Given the description of an element on the screen output the (x, y) to click on. 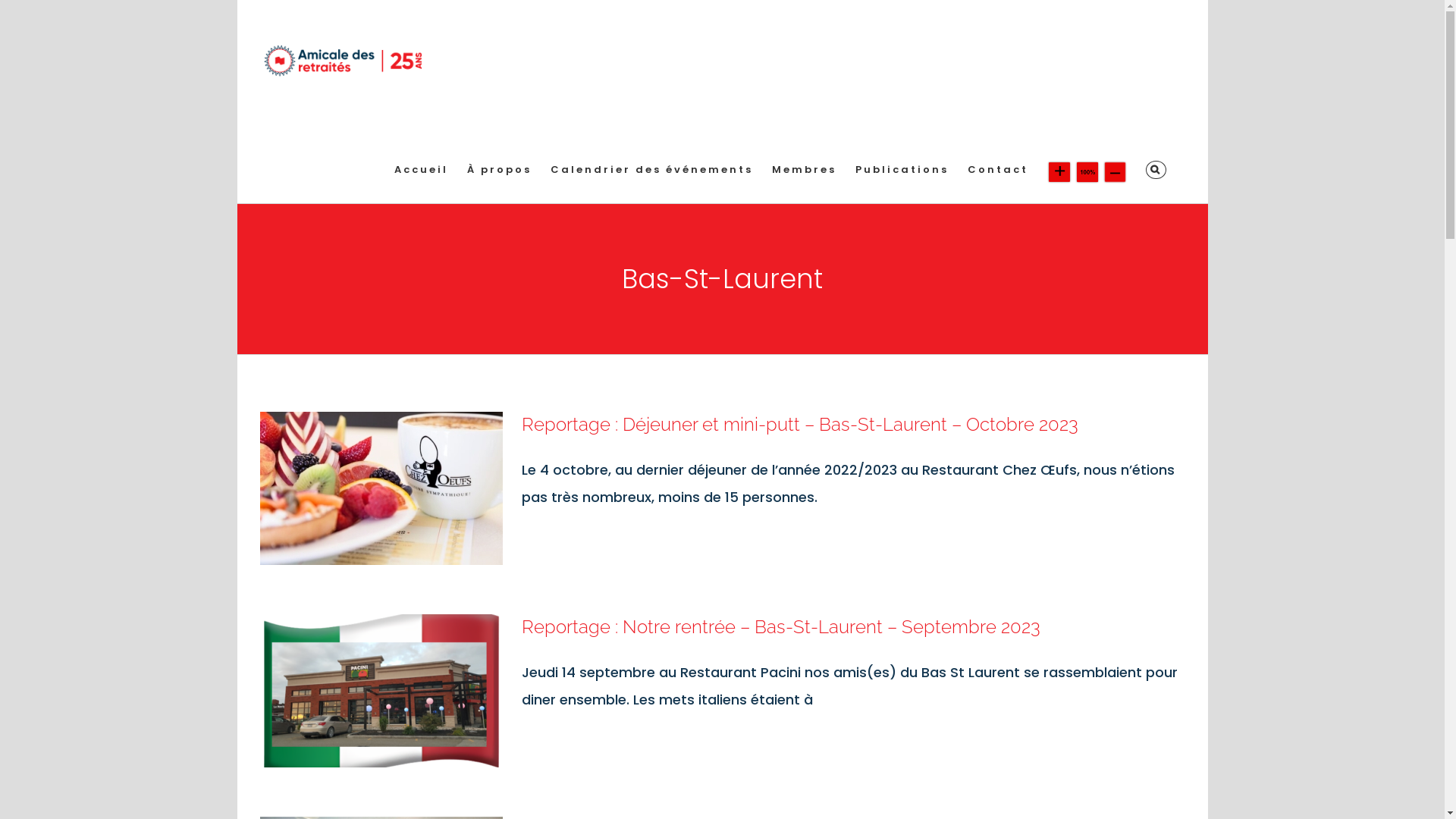
Publications Element type: text (901, 169)
Membres Element type: text (803, 169)
Accueil Element type: text (421, 169)
Contact Element type: text (997, 169)
Recherche Element type: hover (1155, 169)
